Given the description of an element on the screen output the (x, y) to click on. 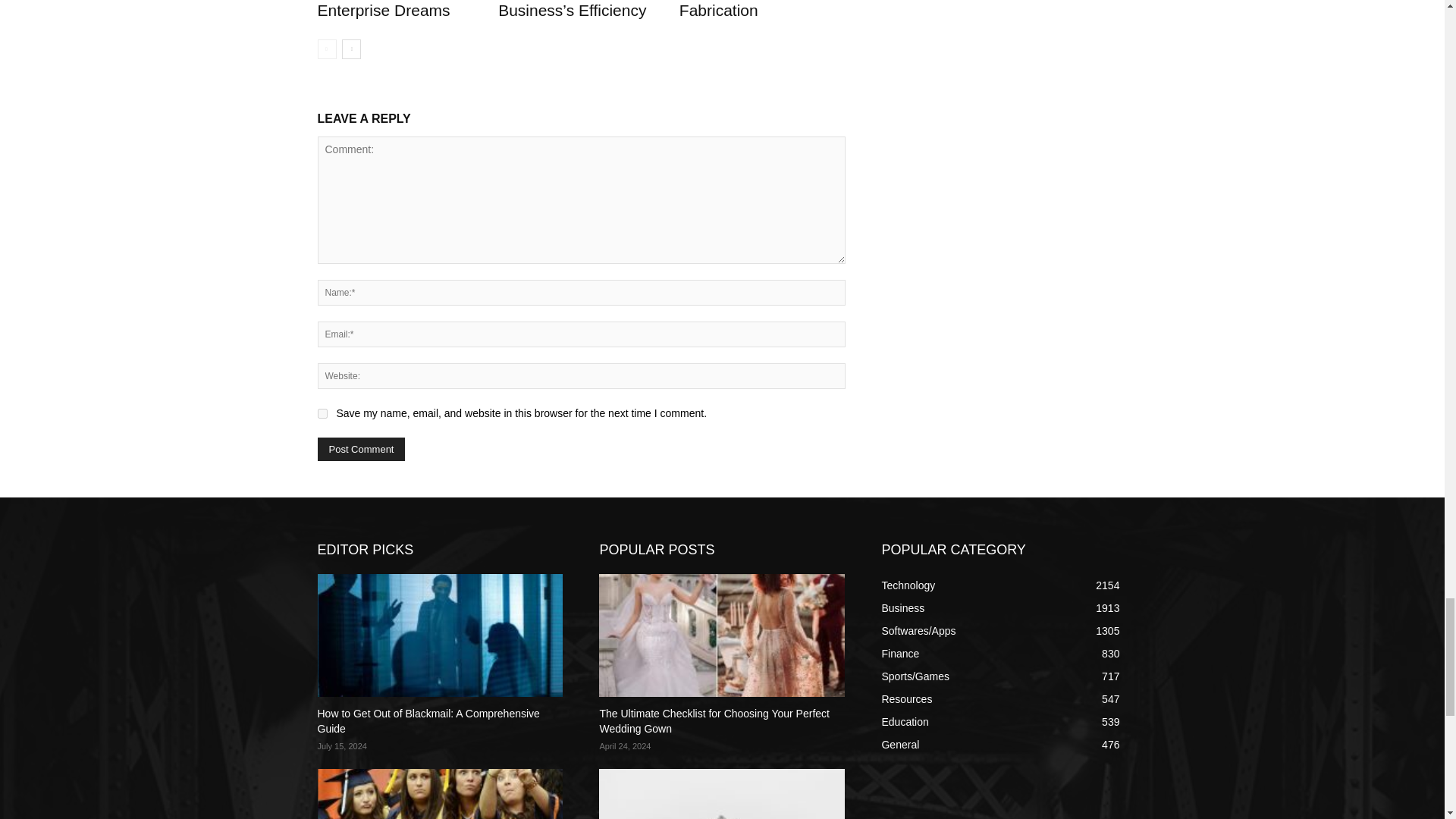
Post Comment (360, 449)
yes (321, 413)
